Given the description of an element on the screen output the (x, y) to click on. 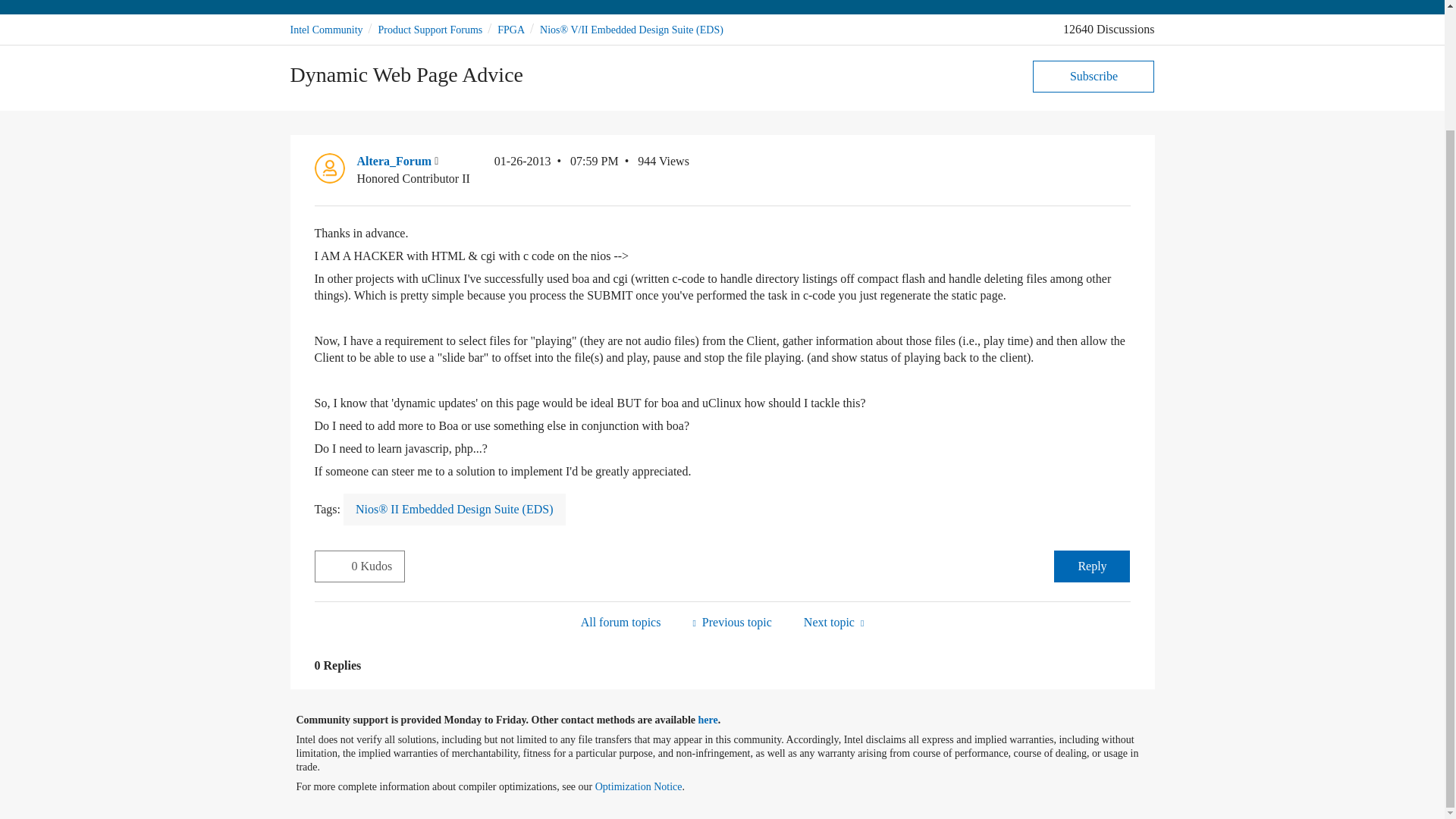
Nios Trace Format (833, 621)
Click here to give kudos to this post. (332, 565)
Posted on (556, 170)
The total number of kudos this post has received. (377, 566)
